Given the description of an element on the screen output the (x, y) to click on. 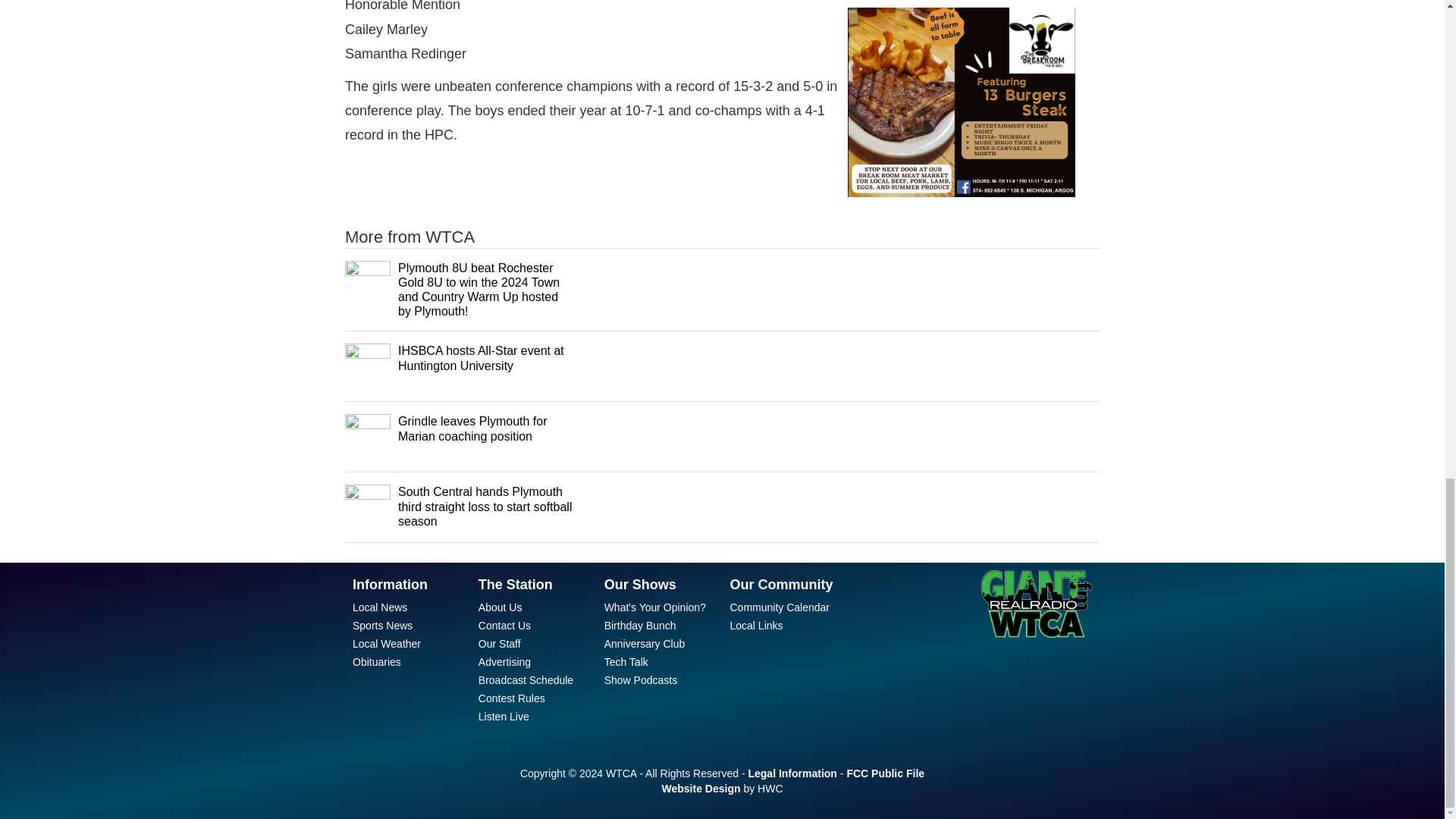
Show Podcasts (641, 680)
Broadcast Schedule (526, 680)
Obituaries (376, 662)
Anniversary Club (644, 644)
Contact Us (505, 625)
Local News (379, 607)
Advertising (505, 662)
What's Your Opinion? (655, 607)
About Us (500, 607)
IHSBCA hosts All-Star event at Huntington University (480, 357)
Listen Live (504, 716)
Contest Rules (511, 698)
Local Weather (386, 644)
Tech Talk (625, 662)
